Given the description of an element on the screen output the (x, y) to click on. 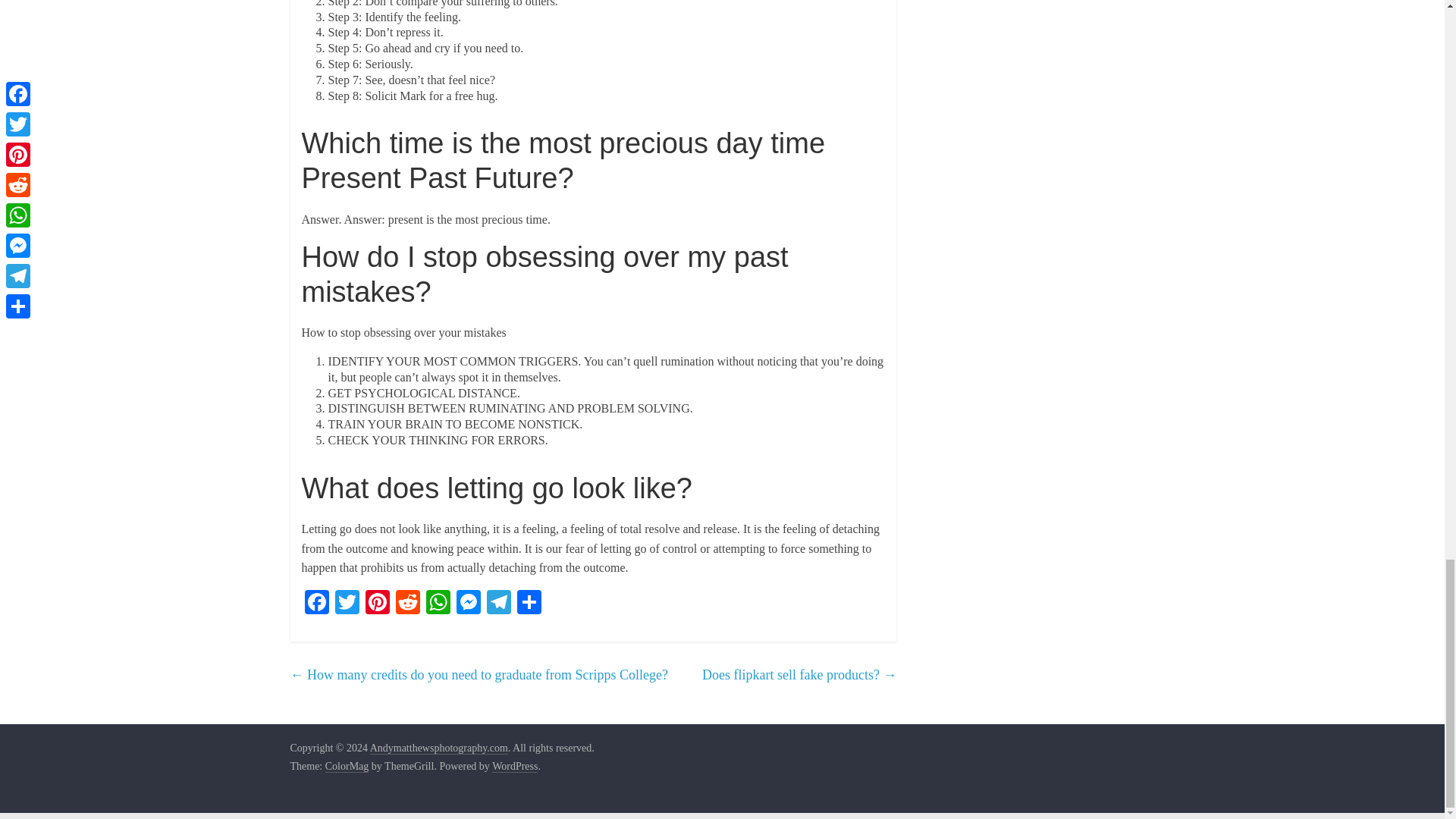
Facebook (316, 603)
Reddit (408, 603)
Twitter (346, 603)
WhatsApp (437, 603)
Facebook (316, 603)
Telegram (498, 603)
Messenger (467, 603)
Pinterest (377, 603)
